Given the description of an element on the screen output the (x, y) to click on. 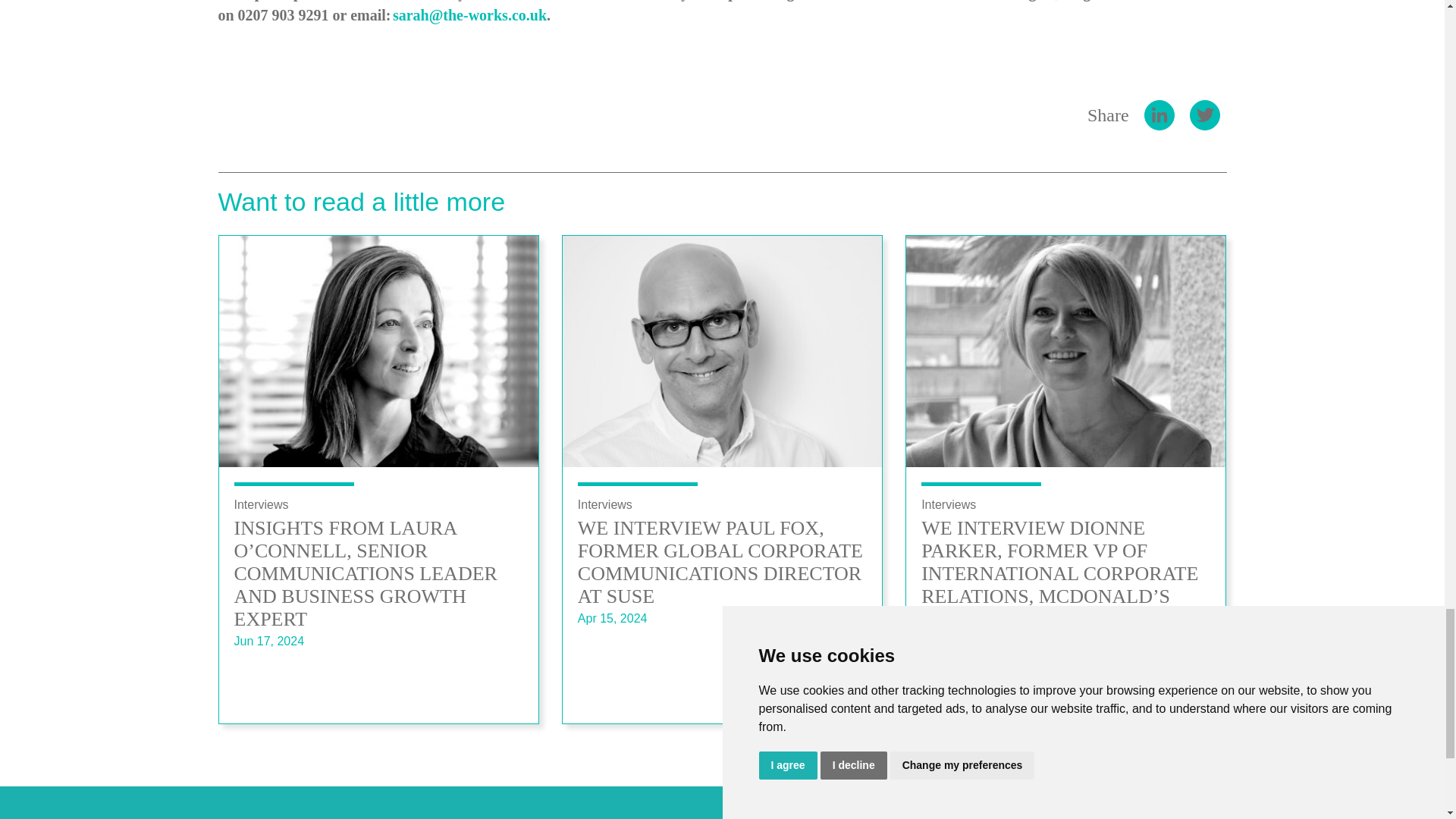
Linkedin (1159, 114)
